Given the description of an element on the screen output the (x, y) to click on. 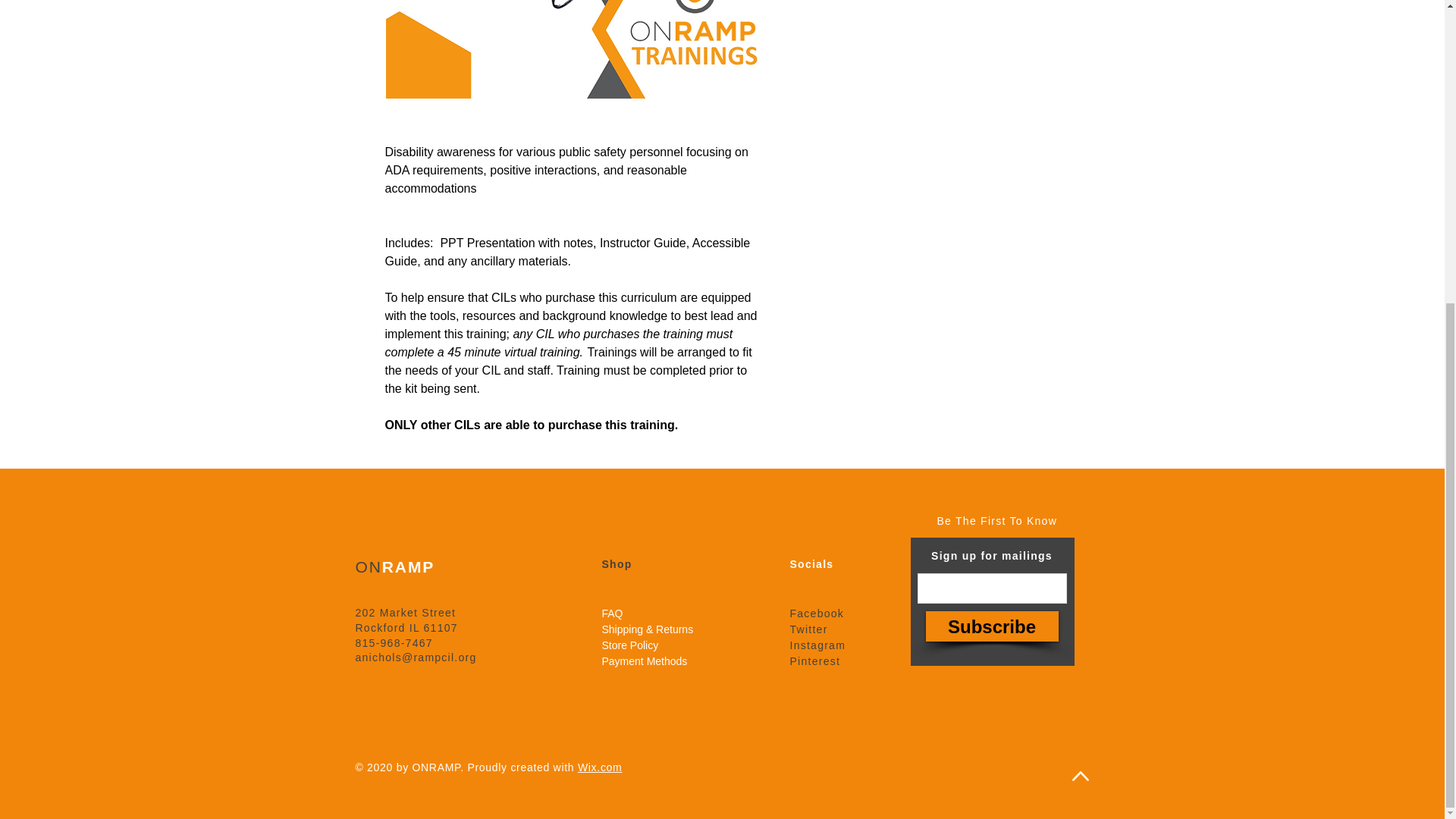
Instagram (817, 645)
Subscribe (991, 625)
Store Policy (630, 645)
Pinterest (815, 661)
Wix.com (600, 767)
Twitter (809, 629)
FAQ (612, 613)
Payment Methods (644, 661)
Facebook (817, 613)
